Given the description of an element on the screen output the (x, y) to click on. 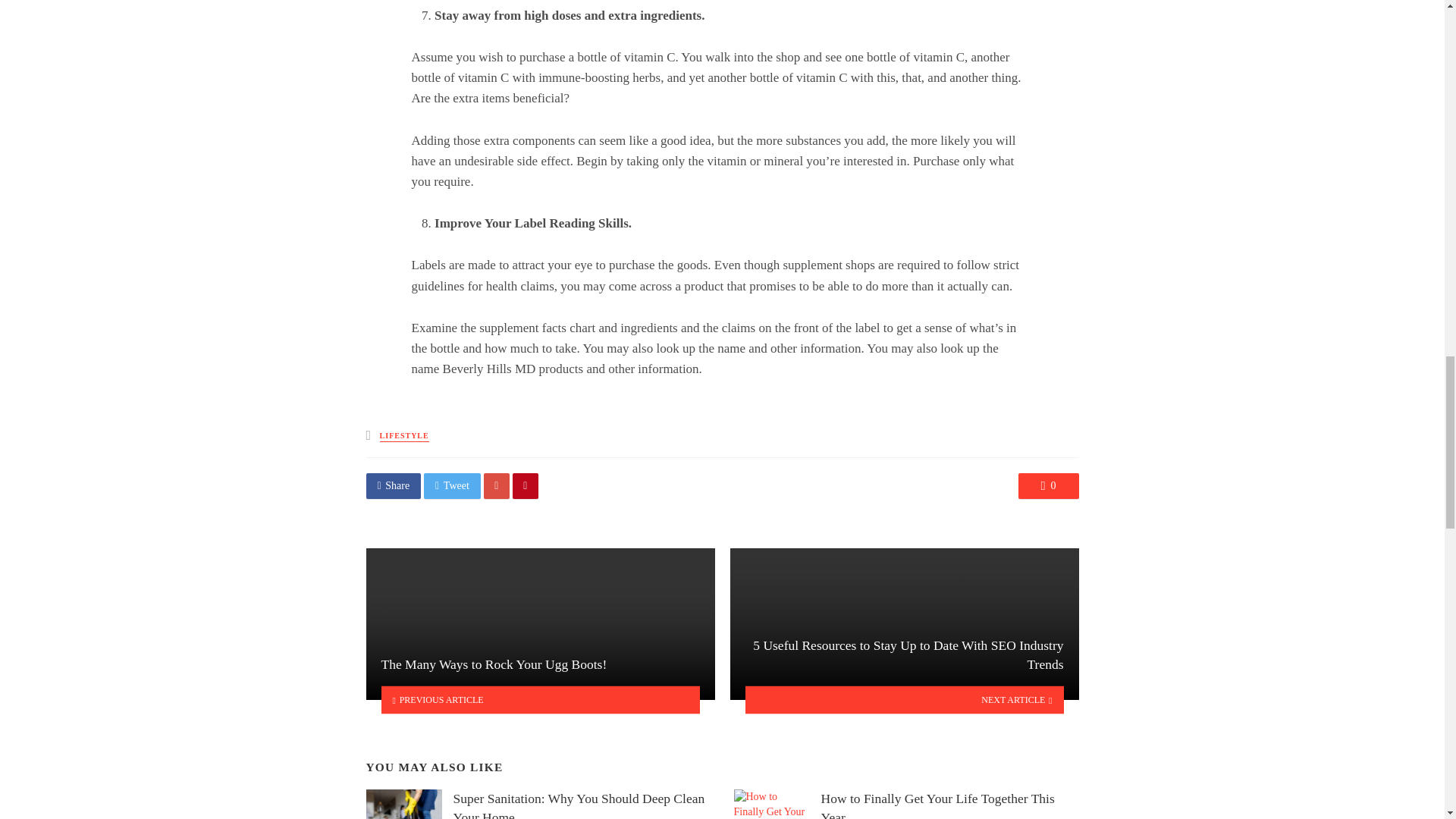
Share (392, 485)
0 Comments (1047, 485)
0 (1047, 485)
NEXT ARTICLE (903, 699)
Share on Pinterest (525, 485)
Share on Twitter (451, 485)
LIFESTYLE (404, 436)
Super Sanitation: Why You Should Deep Clean Your Home (581, 804)
PREVIOUS ARTICLE (539, 699)
Share on Facebook (392, 485)
